Given the description of an element on the screen output the (x, y) to click on. 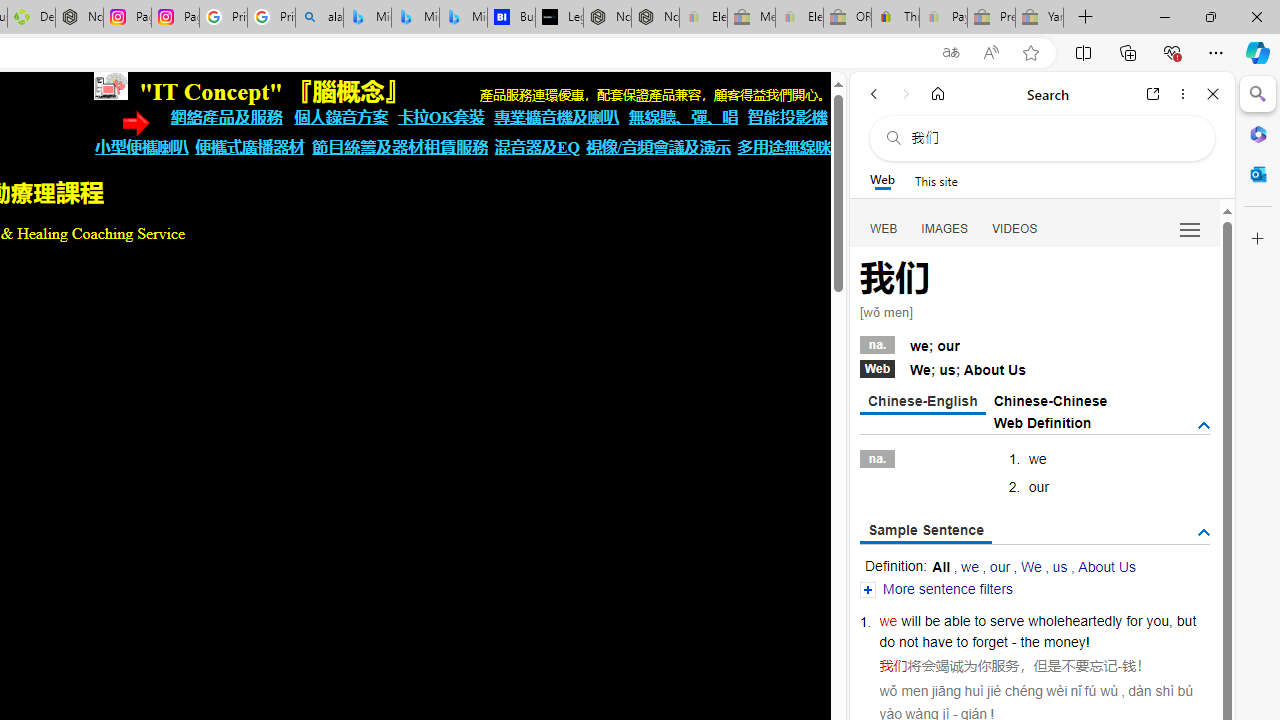
Payments Terms of Use | eBay.com - Sleeping (943, 17)
for (1134, 620)
Class: b_serphb (1190, 229)
About Us (1106, 566)
We (1030, 566)
Search Filter, IMAGES (944, 228)
na.we; our (1034, 343)
Chinese-English (922, 402)
will (911, 620)
